Given the description of an element on the screen output the (x, y) to click on. 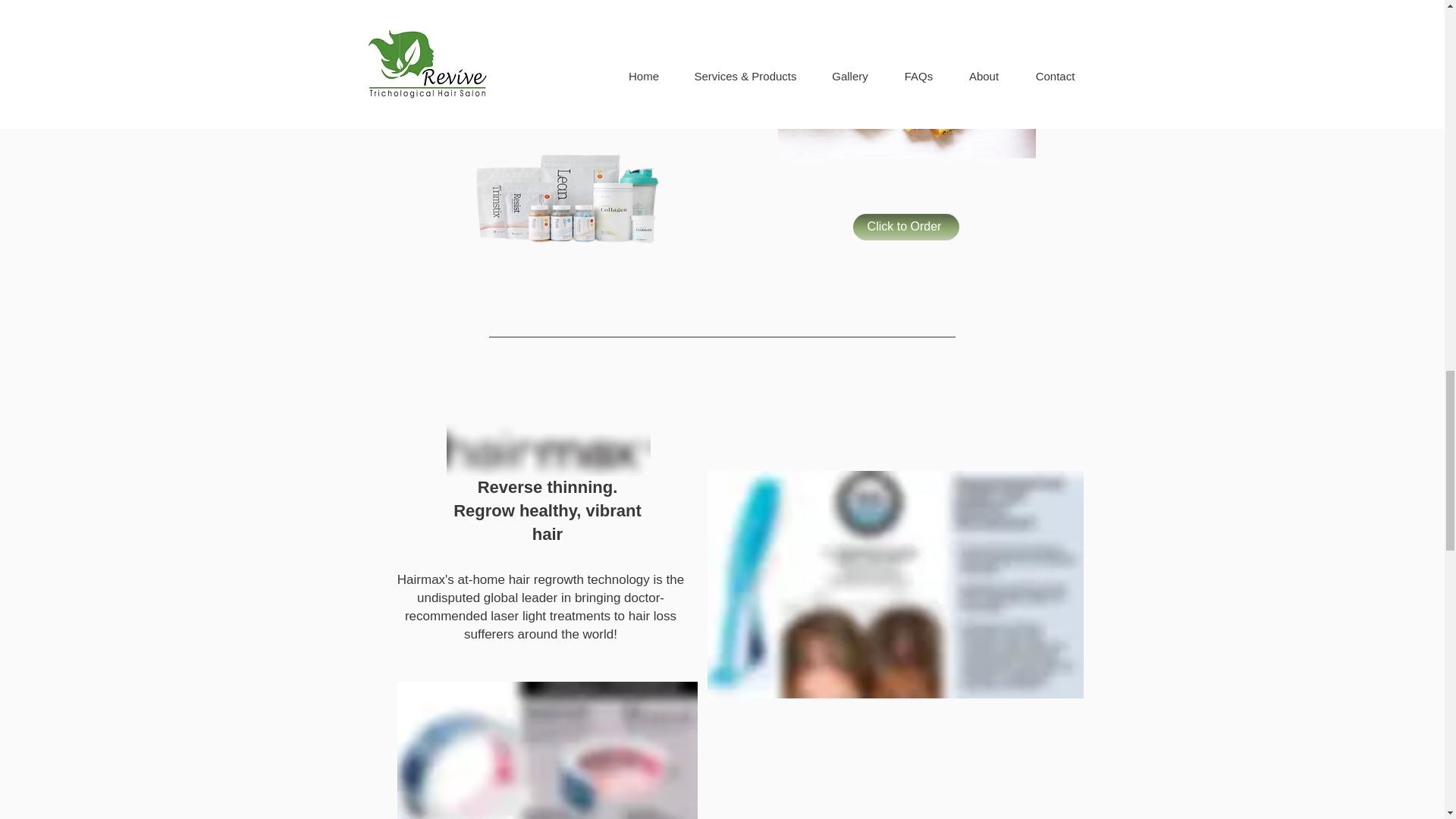
Click to Order (904, 226)
Things needed for weight los (894, 584)
Things needed for weight los (906, 79)
XyngularProducts (565, 200)
